Given the description of an element on the screen output the (x, y) to click on. 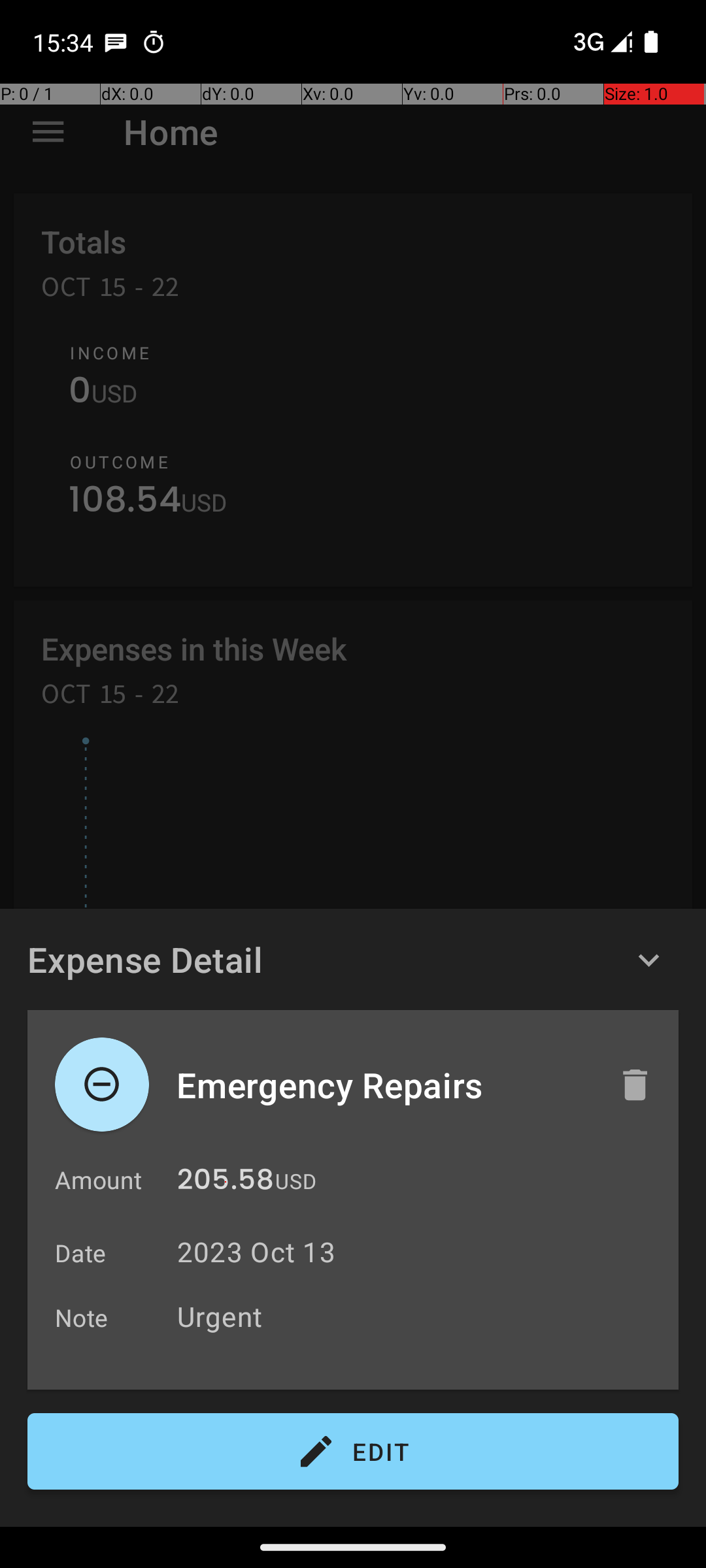
Emergency Repairs Element type: android.widget.TextView (383, 1084)
205.58 Element type: android.widget.TextView (225, 1182)
